Given the description of an element on the screen output the (x, y) to click on. 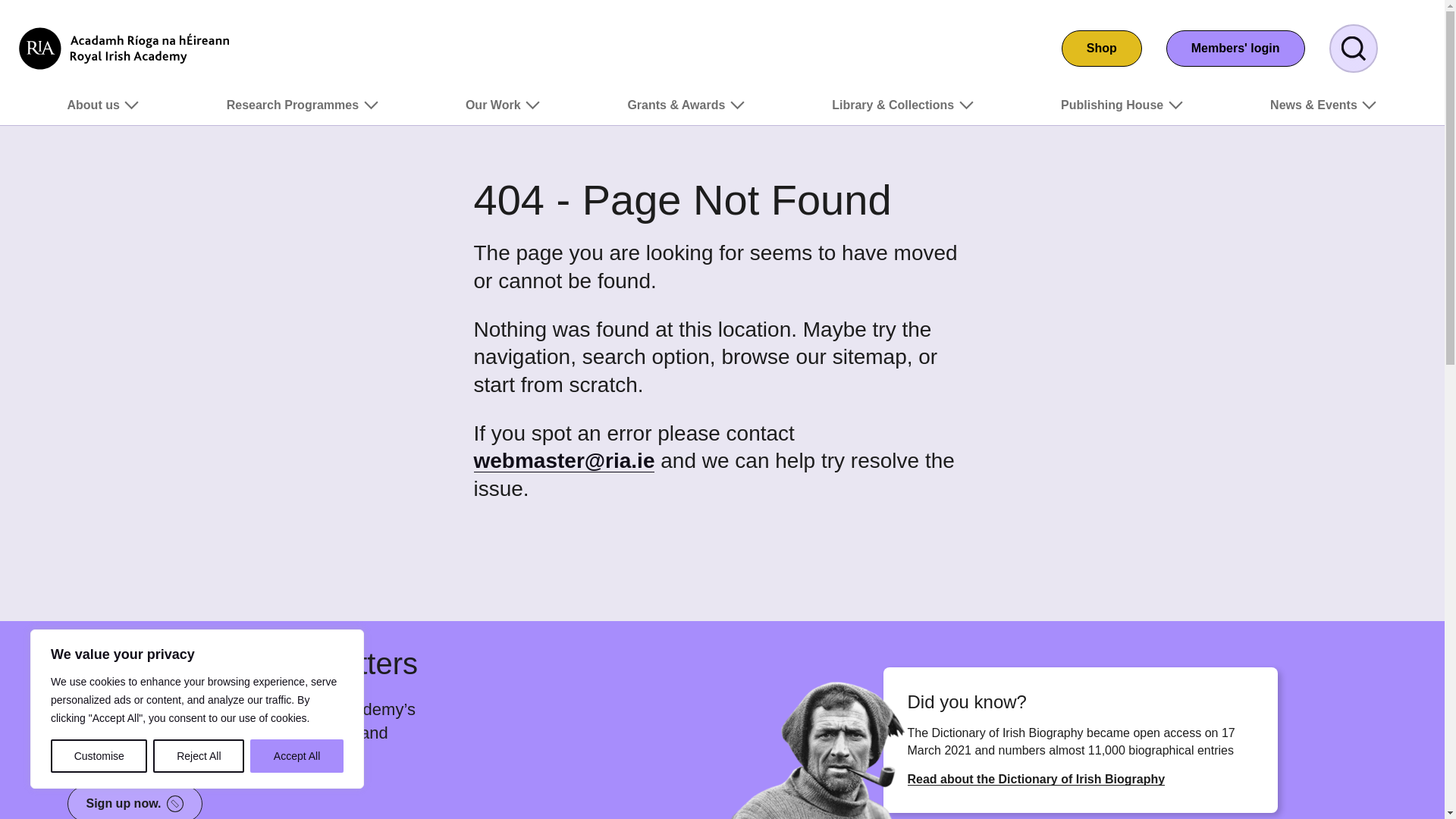
Reject All (198, 756)
Royal Irish Academy (124, 48)
Shop (1101, 48)
Search (1352, 48)
About us (102, 111)
Accept All (296, 756)
Members' login (1235, 48)
Customise (98, 756)
